Given the description of an element on the screen output the (x, y) to click on. 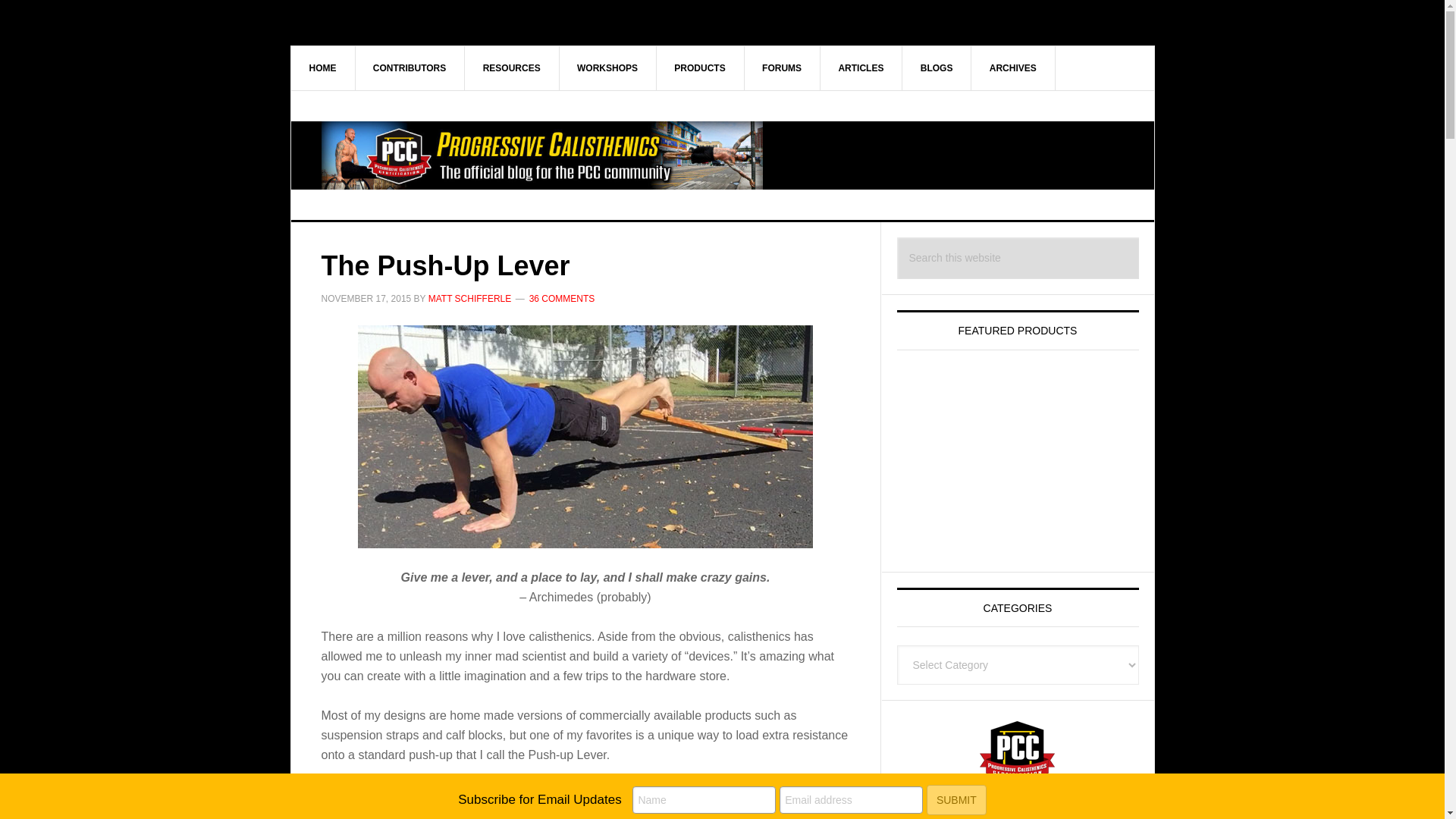
FORUMS (782, 67)
MATT SCHIFFERLE (470, 298)
RESOURCES (511, 67)
36 COMMENTS (562, 298)
PRODUCTS (700, 67)
ARTICLES (860, 67)
PCC BLOG (722, 155)
HOME (323, 67)
BLOGS (937, 67)
